Given the description of an element on the screen output the (x, y) to click on. 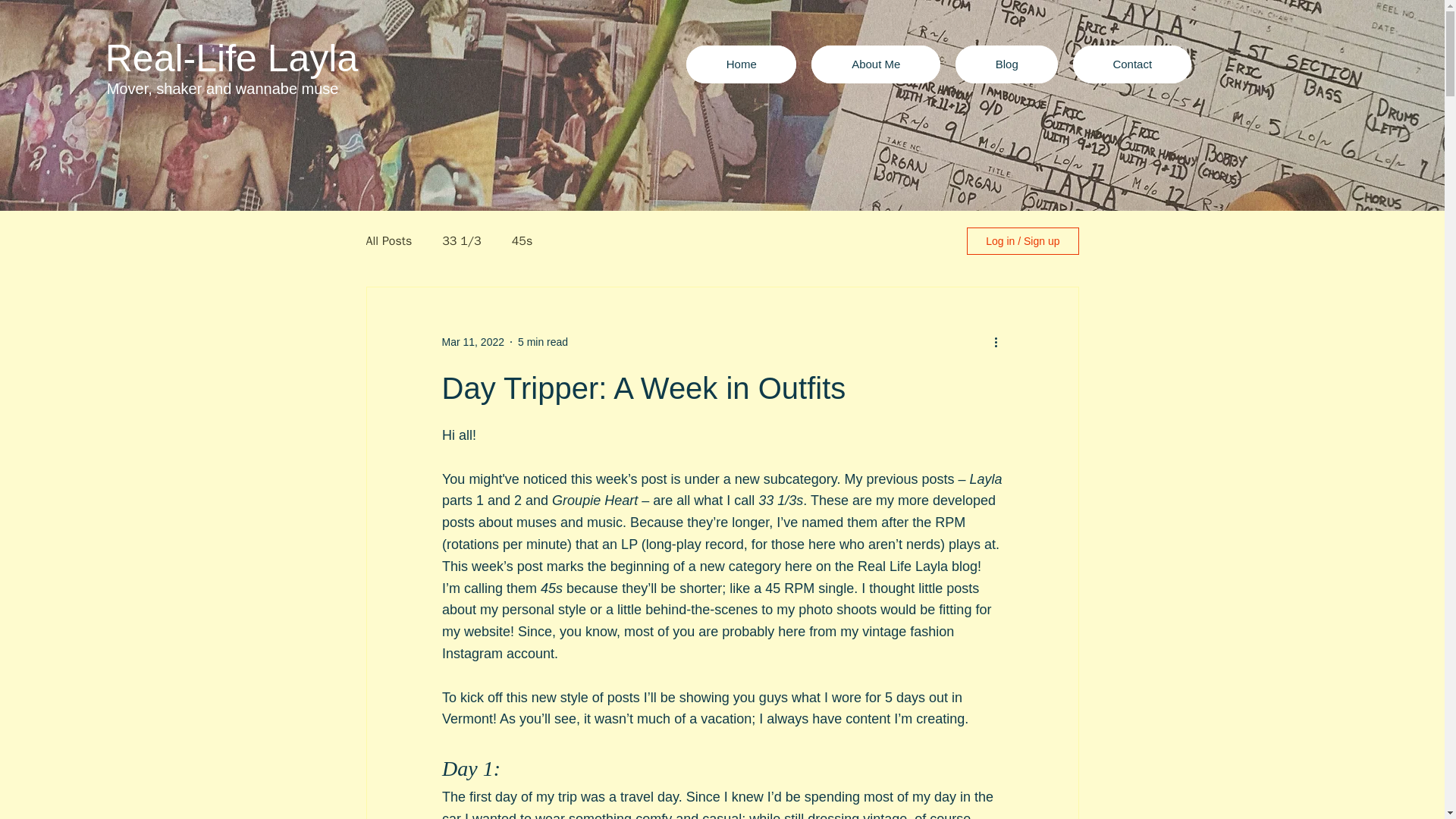
Mar 11, 2022 (472, 340)
Real-Life Layla (231, 57)
5 min read (542, 340)
About Me (875, 64)
Blog (1006, 64)
Contact (1132, 64)
All Posts (388, 241)
Home (740, 64)
45s (522, 241)
Mover, shaker and wannabe muse (222, 88)
